Given the description of an element on the screen output the (x, y) to click on. 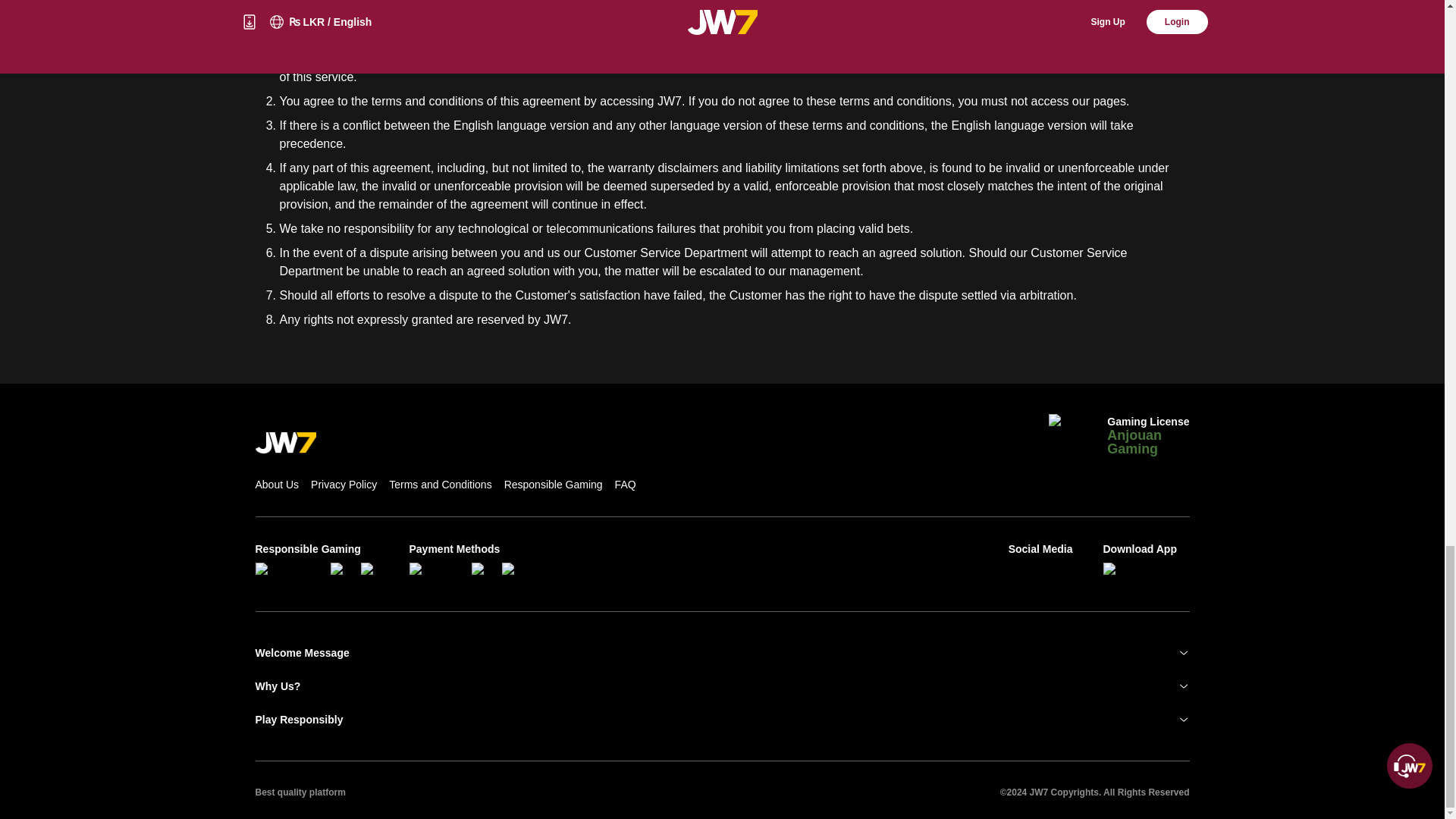
Terms and Conditions (440, 484)
Privacy Policy (344, 484)
Responsible Gaming (552, 484)
About Us (276, 484)
FAQ (625, 484)
